Given the description of an element on the screen output the (x, y) to click on. 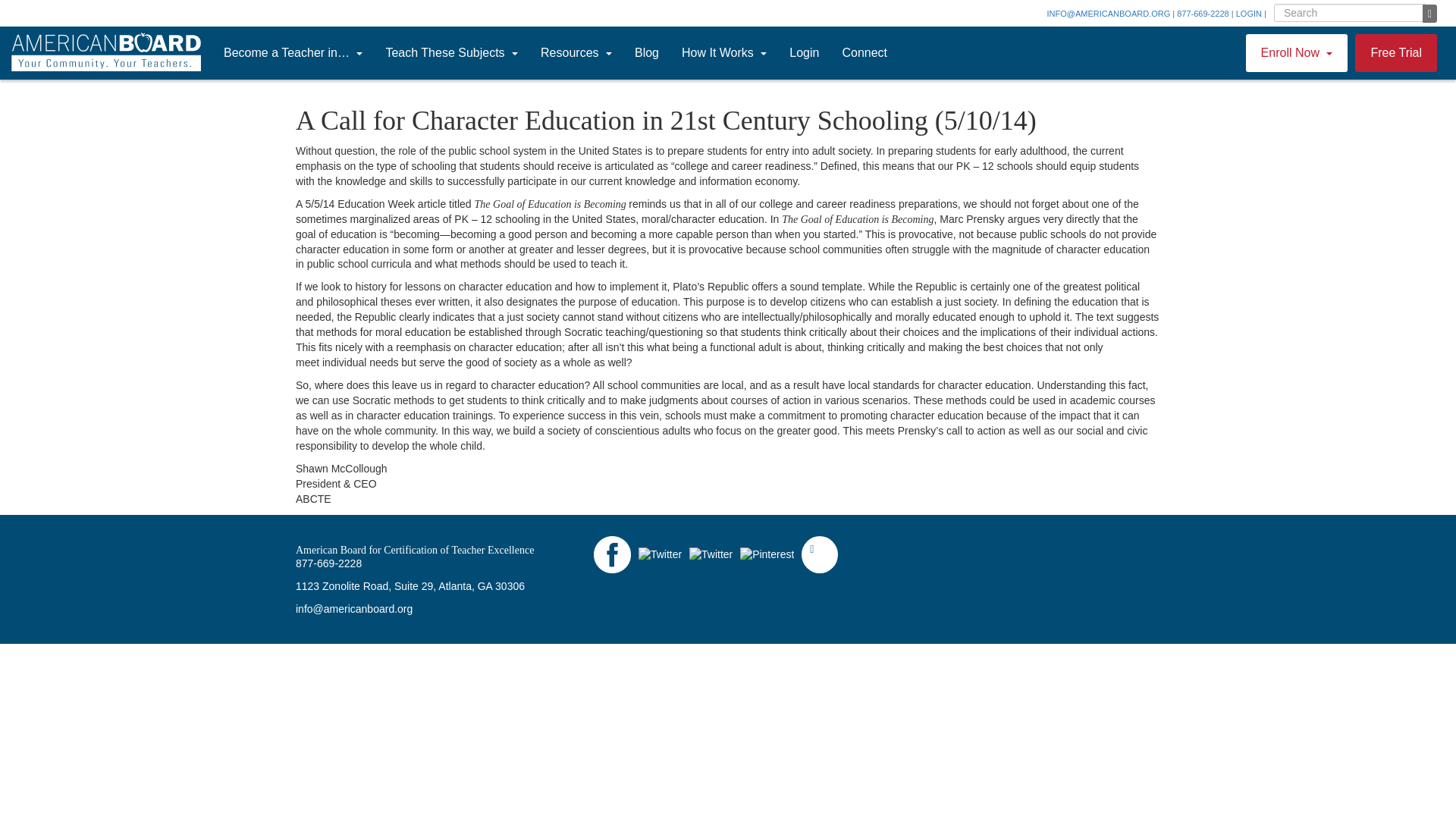
877-669-2228 (1202, 13)
Resources (576, 52)
Teach These Subjects (451, 52)
LOGIN (1249, 13)
Become a Teacher in... (293, 52)
